Given the description of an element on the screen output the (x, y) to click on. 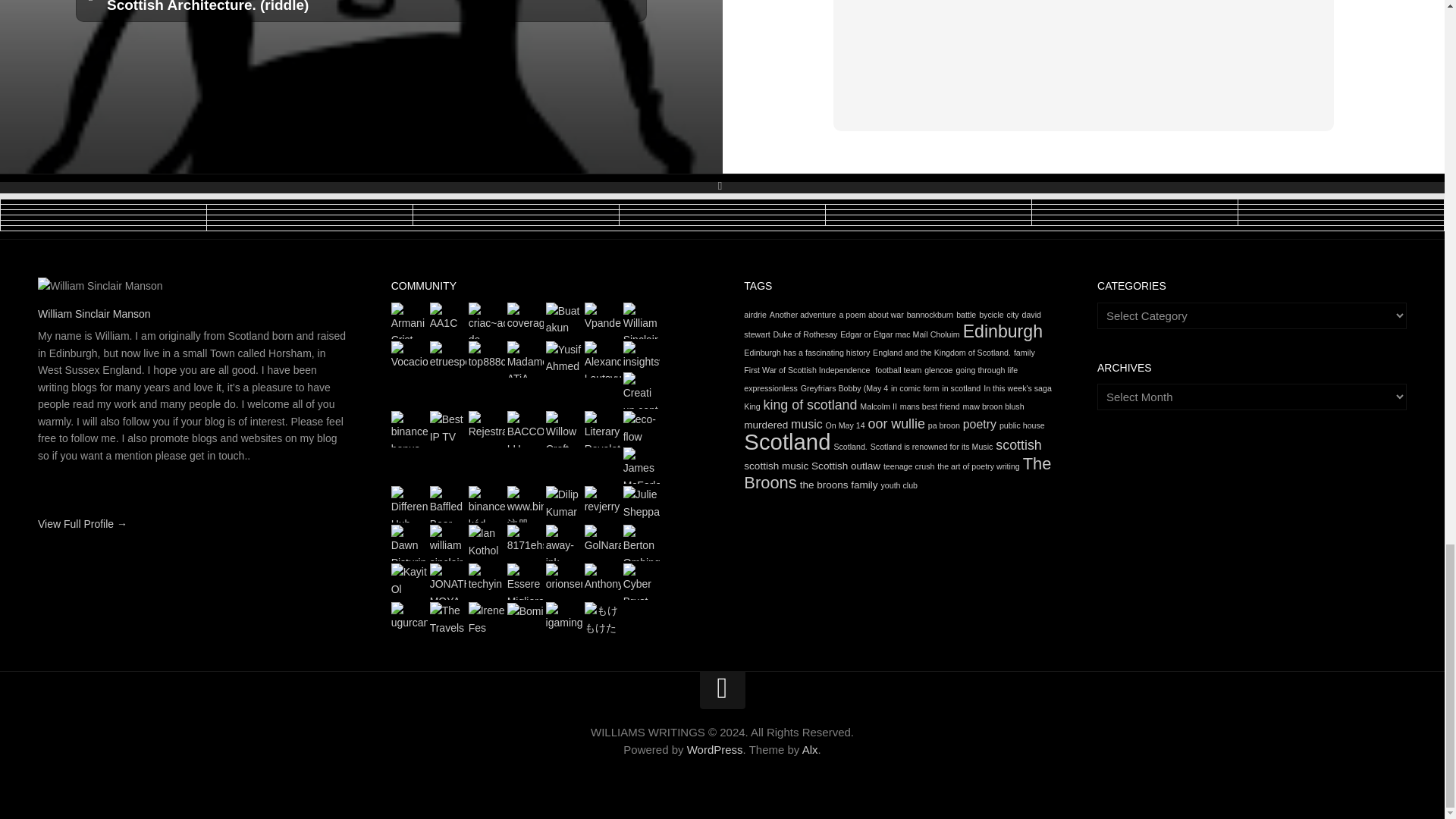
Comment Form (1083, 55)
